Given the description of an element on the screen output the (x, y) to click on. 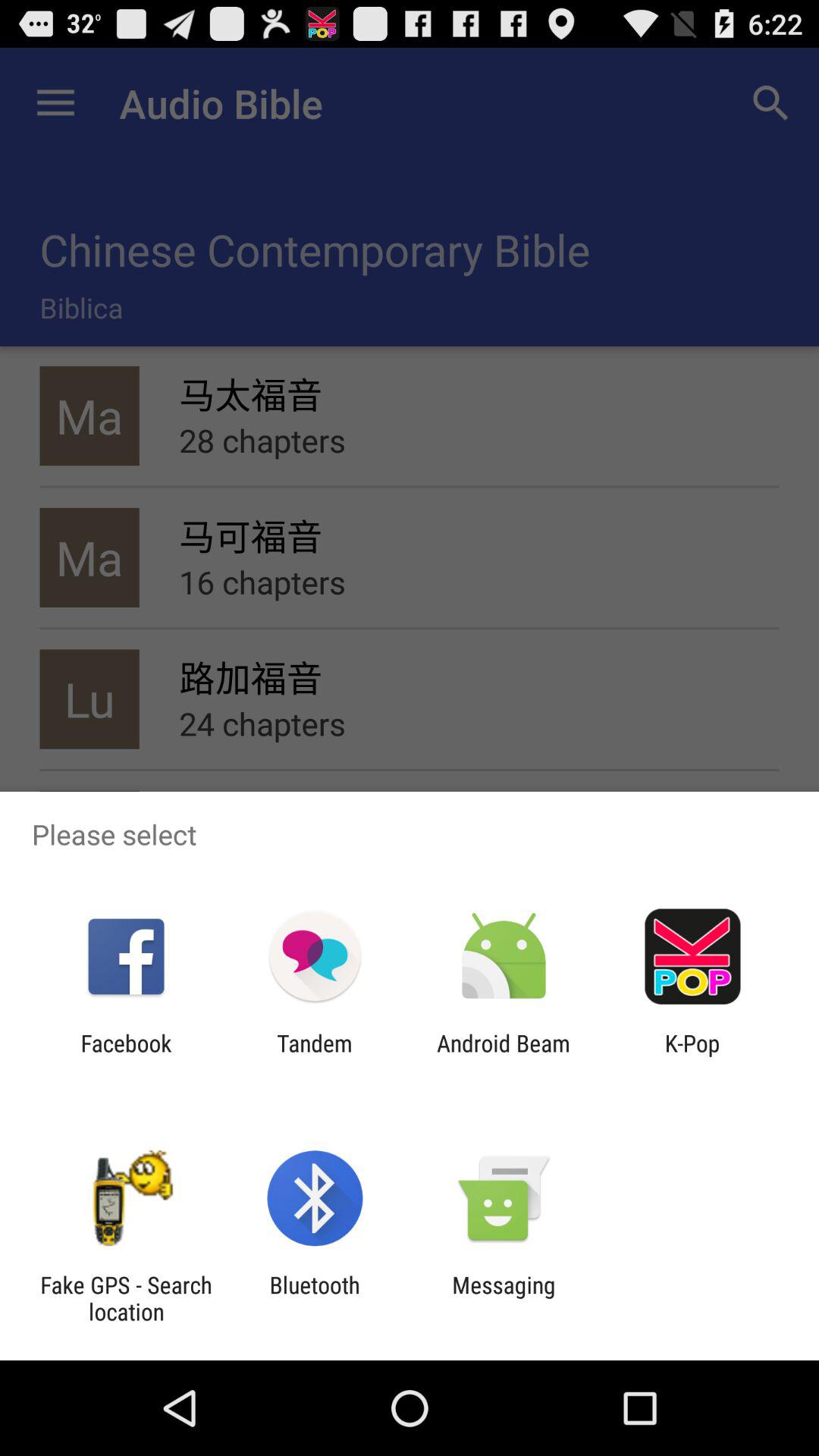
select the app next to the android beam (314, 1056)
